Given the description of an element on the screen output the (x, y) to click on. 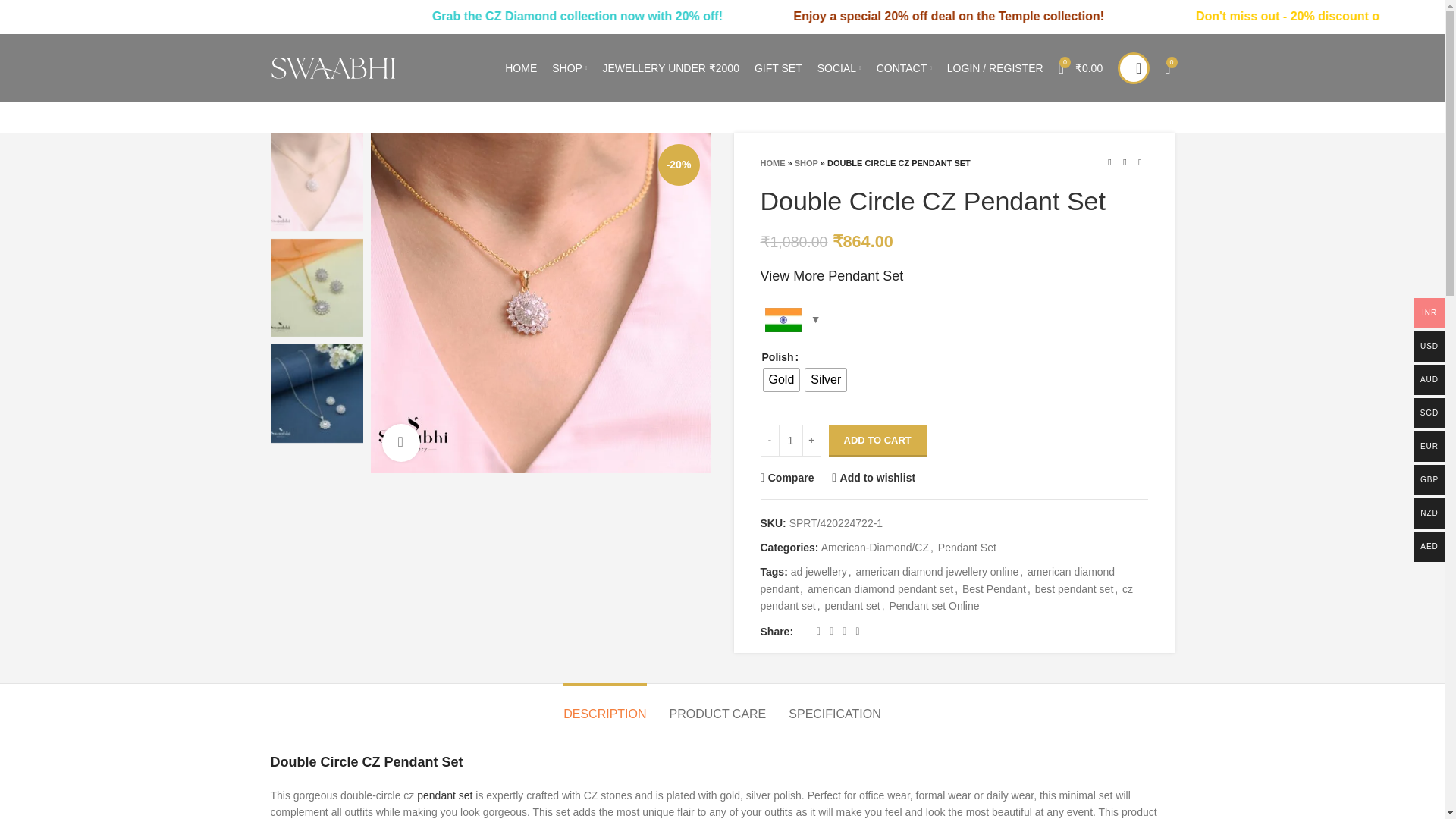
HOME (521, 68)
CZ Diamond (668, 15)
SHOP (568, 68)
Temple collection! (1208, 15)
